Given the description of an element on the screen output the (x, y) to click on. 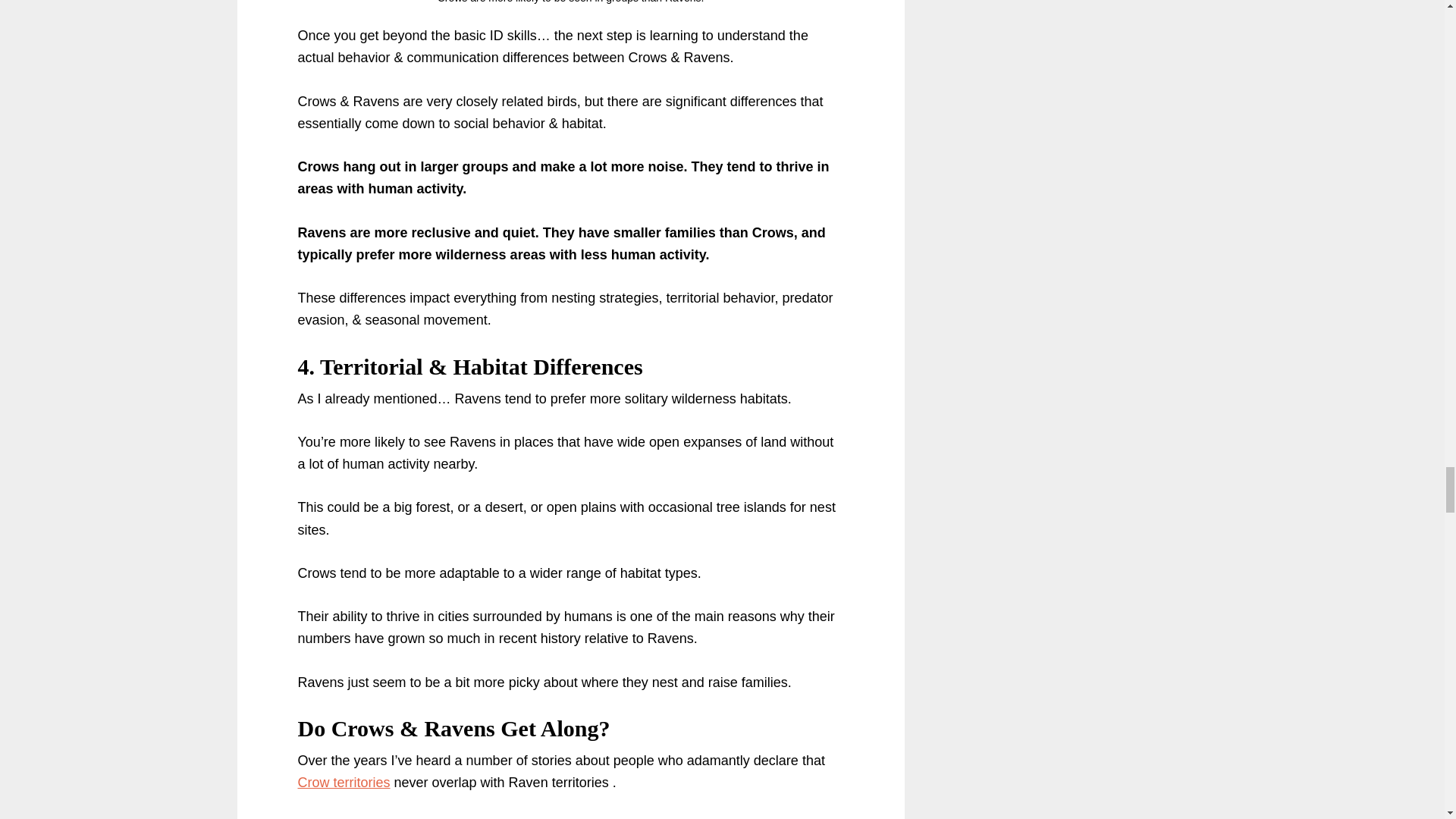
Crow territories (343, 782)
